Given the description of an element on the screen output the (x, y) to click on. 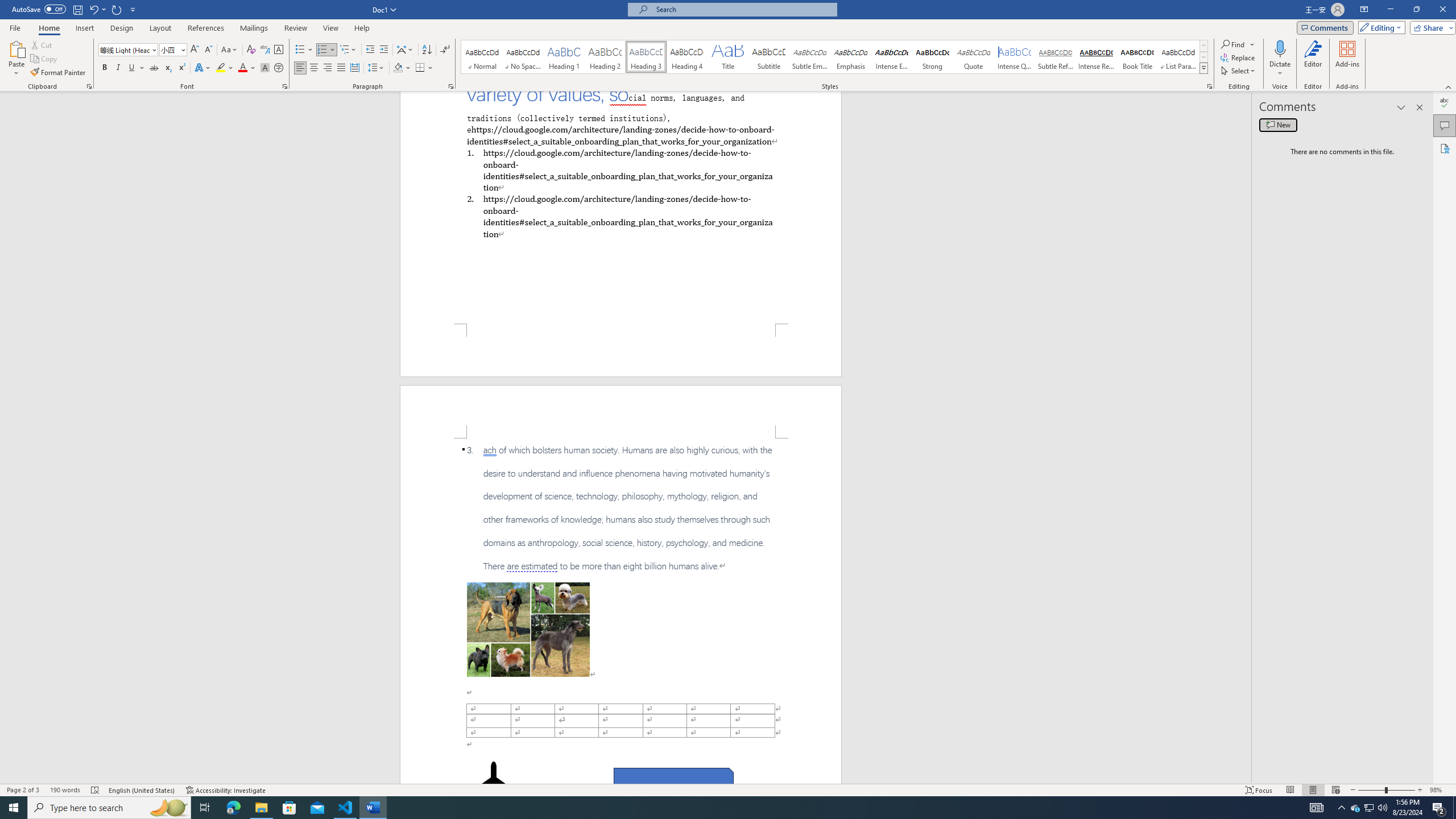
Undo Paragraph Alignment (92, 9)
Line and Paragraph Spacing (376, 67)
Grow Font (193, 49)
Phonetic Guide... (264, 49)
Spelling and Grammar Check Errors (94, 790)
Editing (1379, 27)
Subtle Reference (1055, 56)
Increase Indent (383, 49)
